Given the description of an element on the screen output the (x, y) to click on. 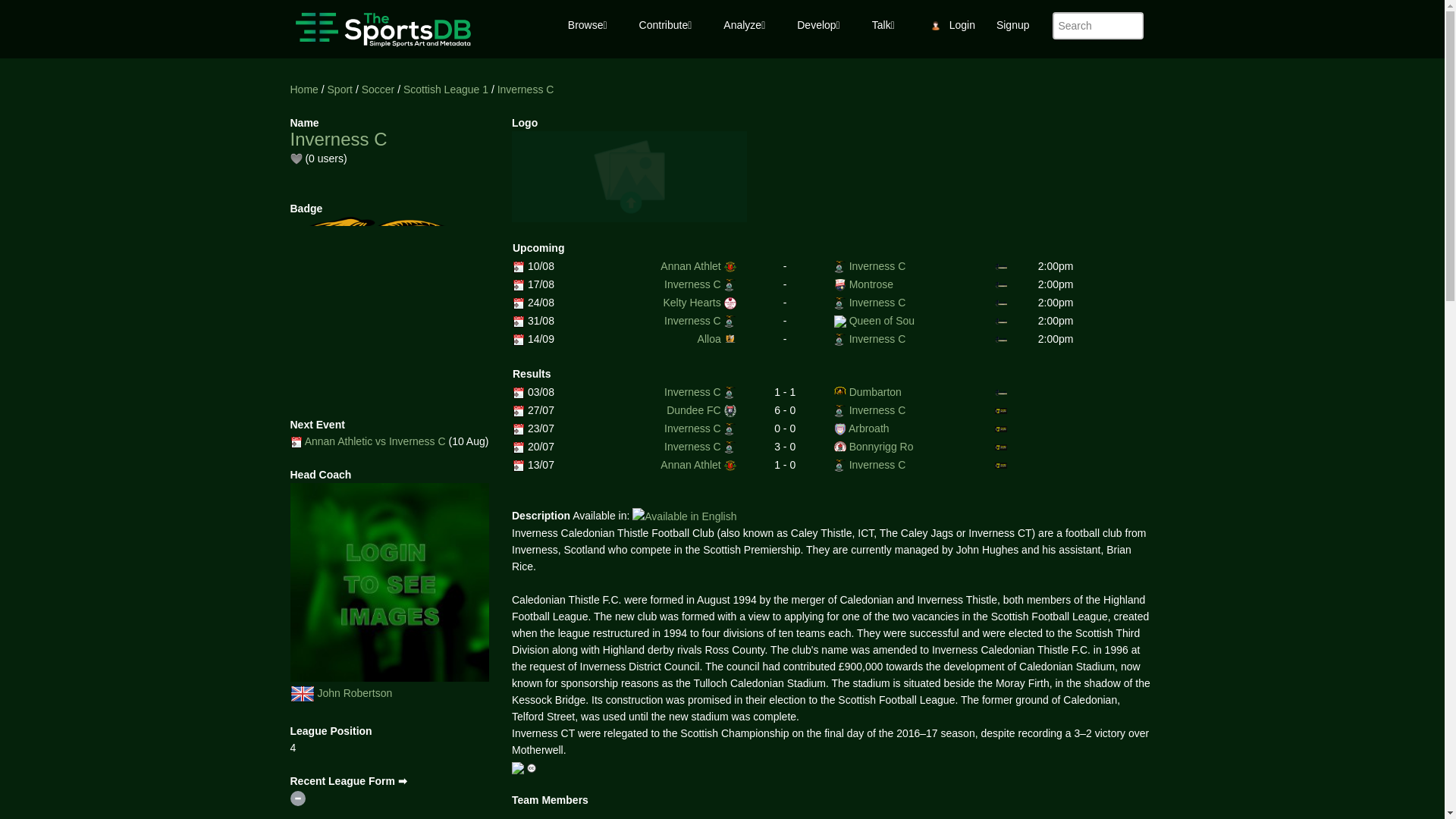
Available in English (683, 515)
